Given the description of an element on the screen output the (x, y) to click on. 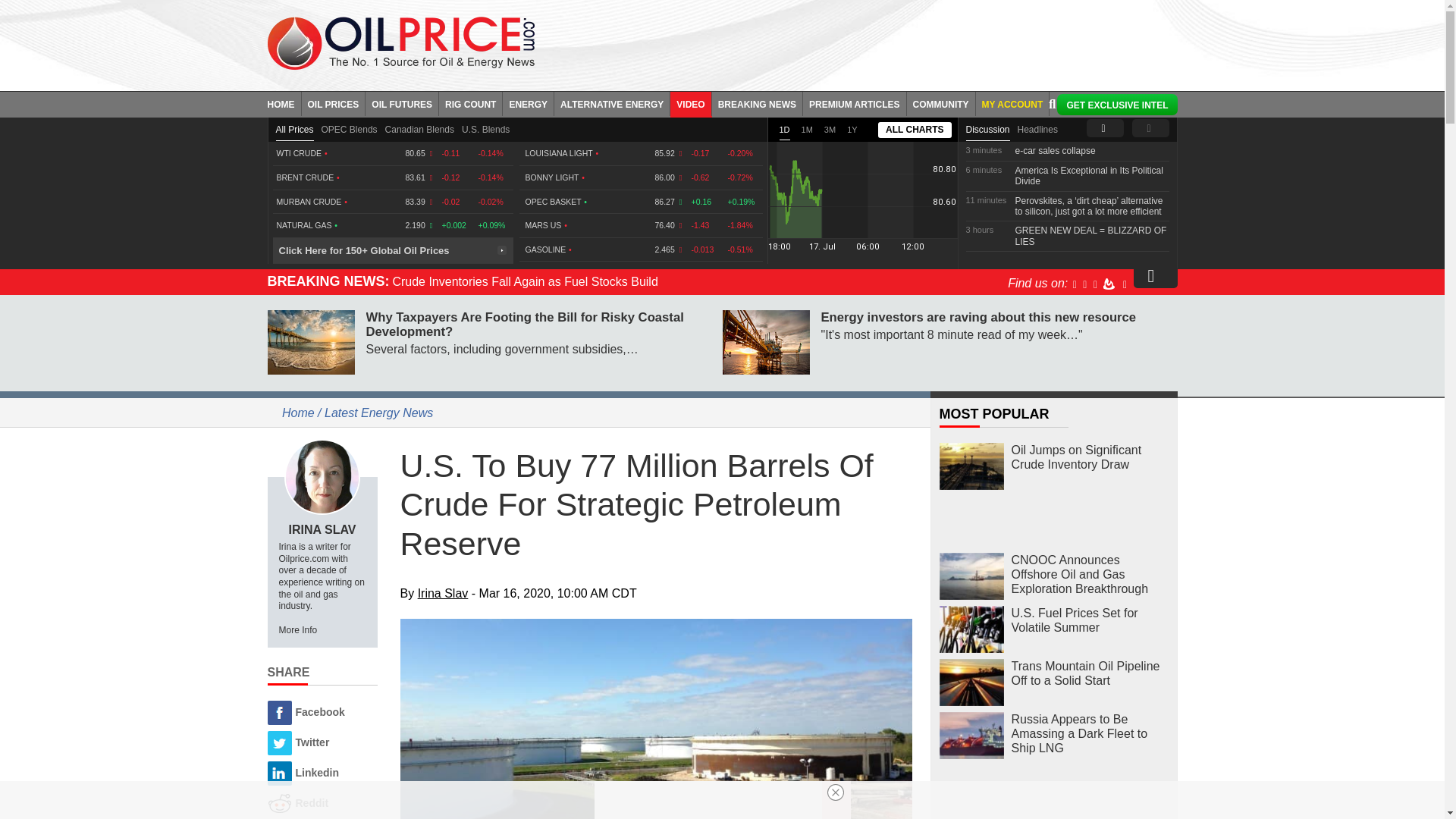
3rd party ad content (1053, 799)
Oil Jumps on Significant Crude Inventory Draw (971, 466)
Oil prices - Oilprice.com (400, 42)
3rd party ad content (866, 41)
Trans Mountain Oil Pipeline Off to a Solid Start (971, 682)
OIL PRICES (333, 103)
MY ACCOUNT (1012, 103)
VIDEO (690, 103)
HOME (283, 103)
PREMIUM ARTICLES (855, 103)
U.S. Fuel Prices Set for Volatile Summer (971, 629)
ENERGY (528, 103)
ALTERNATIVE ENERGY (611, 103)
